Given the description of an element on the screen output the (x, y) to click on. 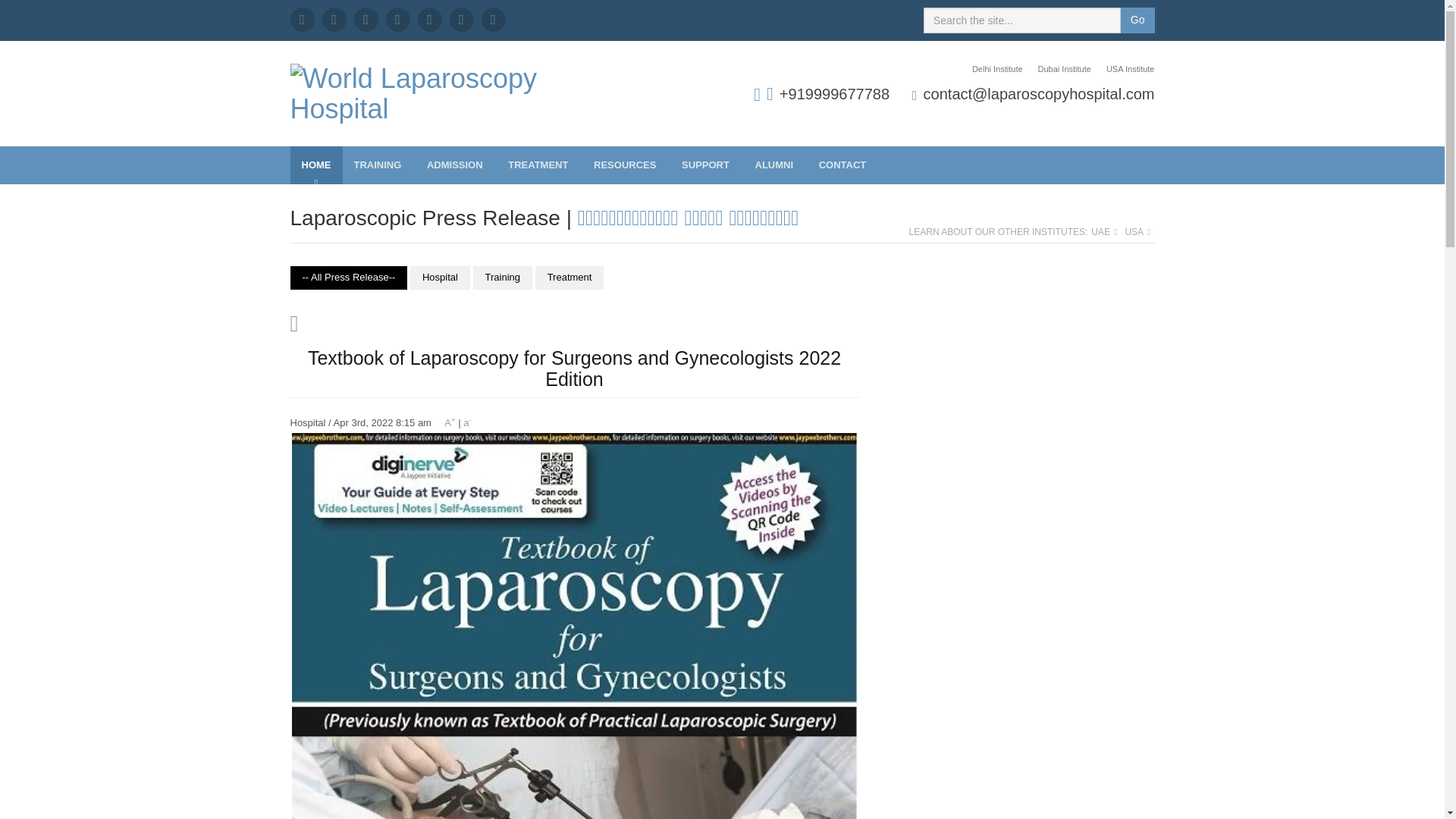
USA Institute (1126, 69)
Dubai Institute (1064, 69)
TREATMENT (539, 165)
Delhi Institute (996, 69)
Go (1137, 20)
TRAINING (378, 165)
HOME (315, 165)
ADMISSION (455, 165)
